Given the description of an element on the screen output the (x, y) to click on. 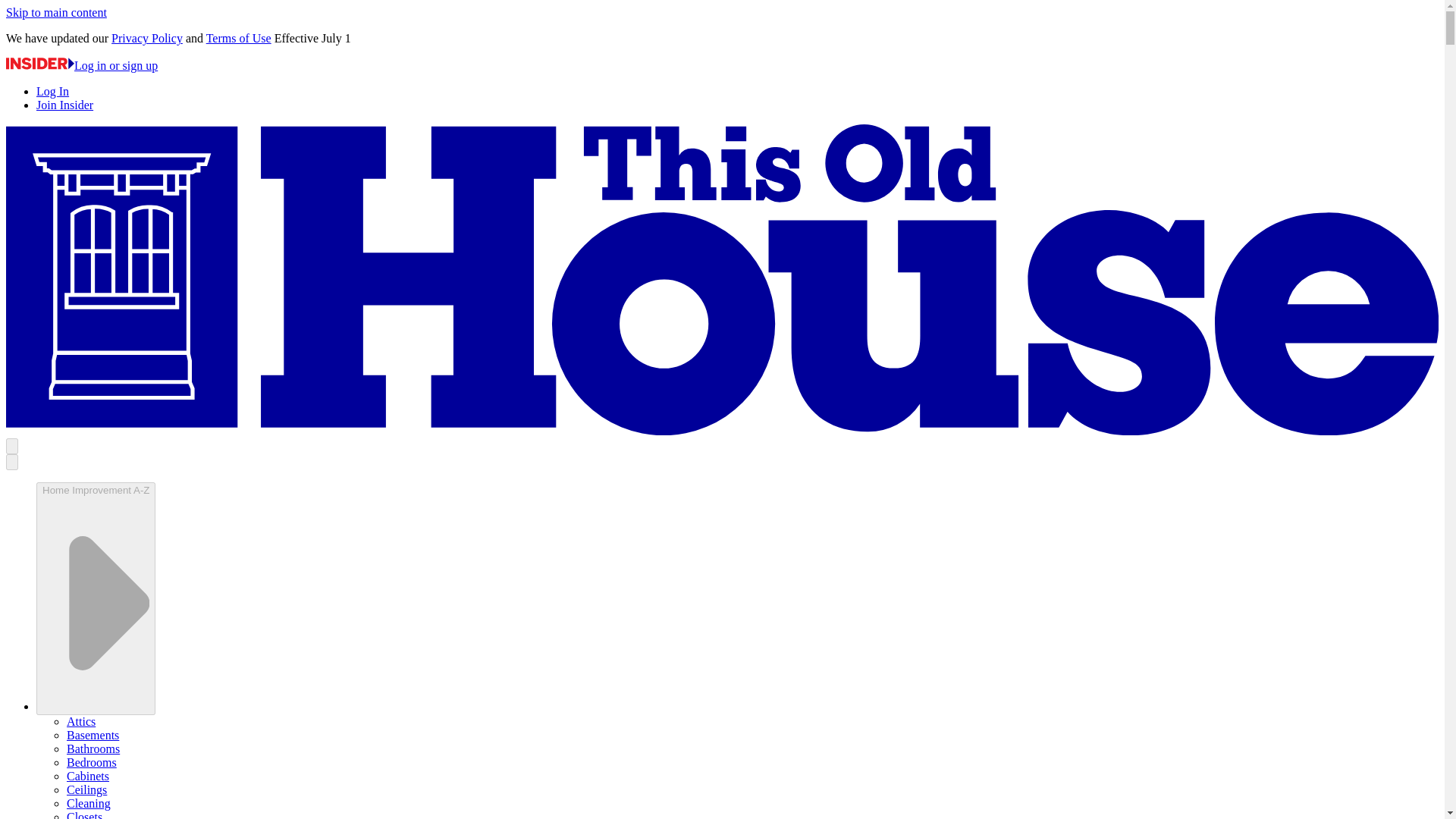
Log In (52, 91)
Privacy Policy (147, 38)
Join Insider (64, 104)
Skip to main content (55, 11)
Bedrooms (91, 762)
Cabinets (87, 775)
Cleaning (88, 802)
Basements (92, 735)
Attics (81, 721)
Closets (83, 814)
